Given the description of an element on the screen output the (x, y) to click on. 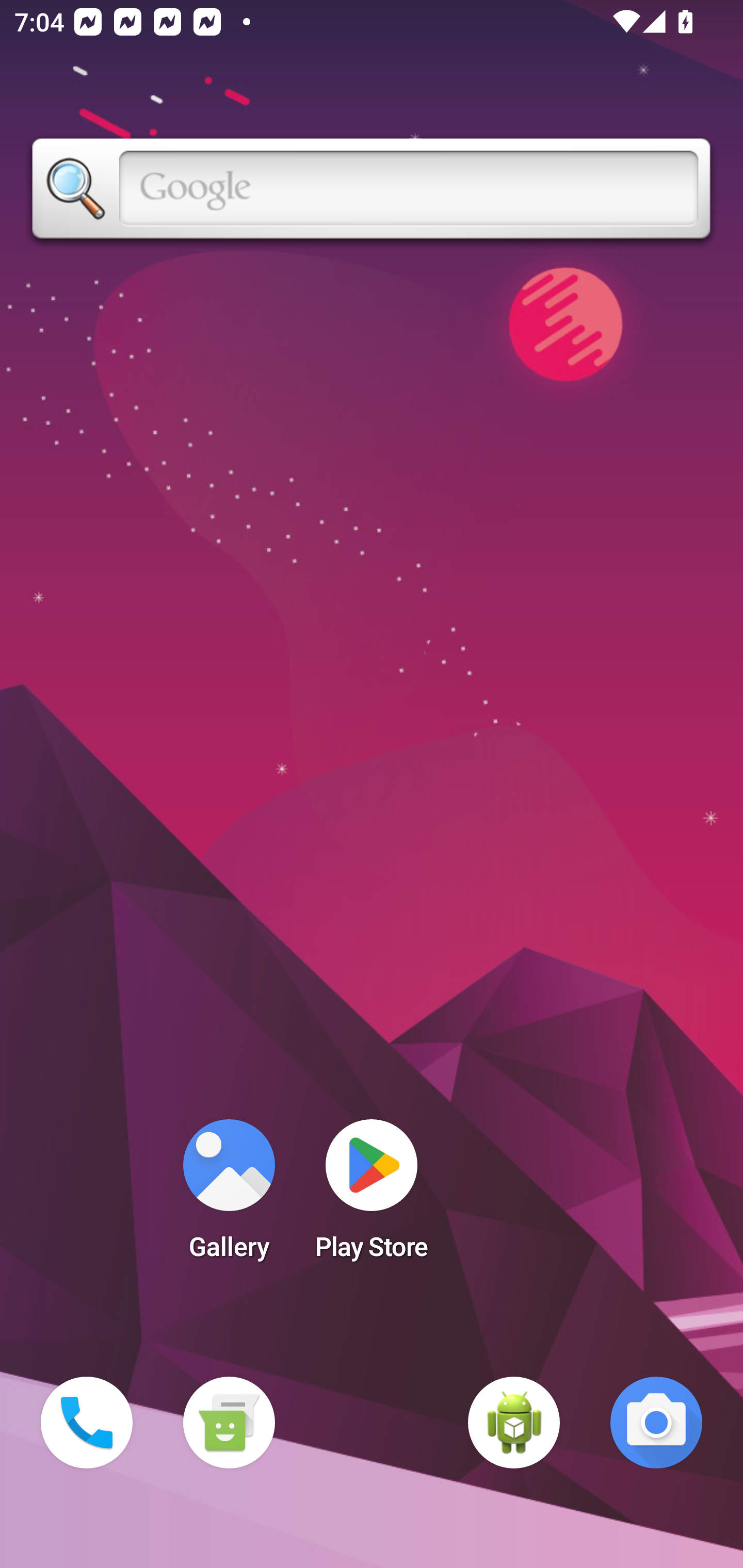
Gallery (228, 1195)
Play Store (371, 1195)
Phone (86, 1422)
Messaging (228, 1422)
WebView Browser Tester (513, 1422)
Camera (656, 1422)
